Given the description of an element on the screen output the (x, y) to click on. 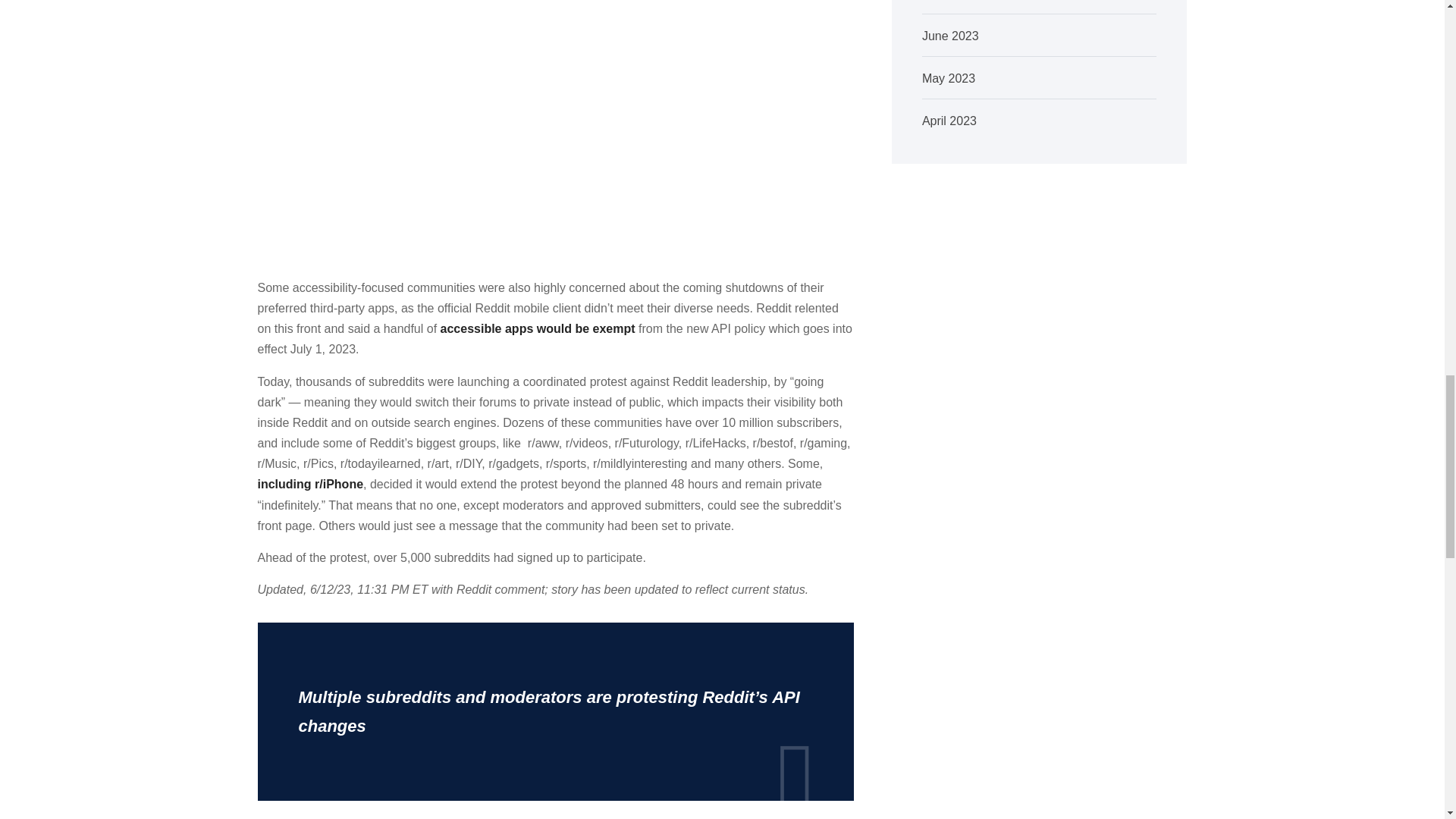
accessible apps would be exempt (537, 328)
